Given the description of an element on the screen output the (x, y) to click on. 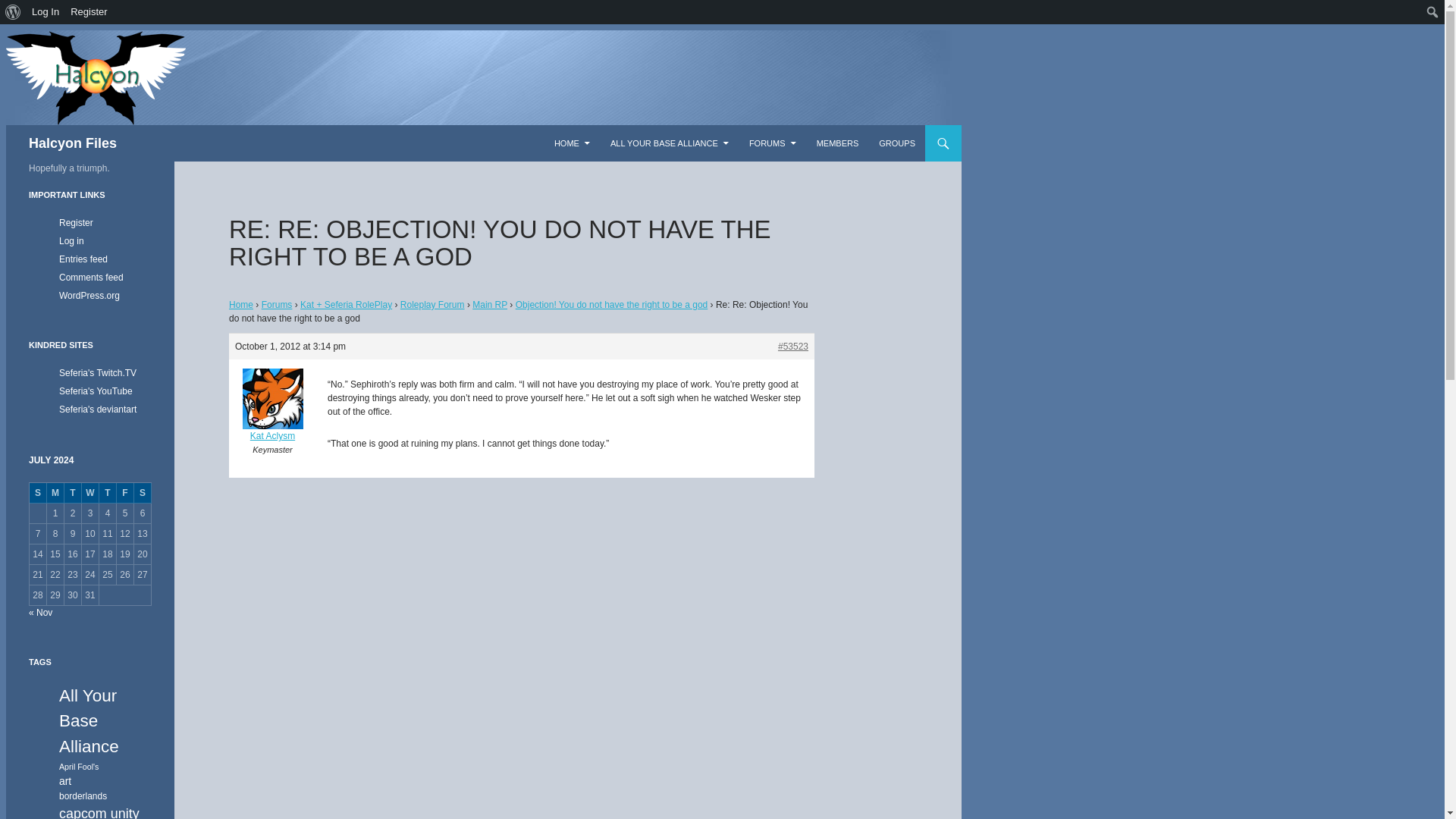
Register (89, 12)
Wednesday (90, 493)
Register (76, 222)
Saturday (142, 493)
Forums (277, 304)
MEMBERS (837, 143)
Halcyon Files (72, 143)
Log in (71, 240)
WordPress.org (89, 295)
ALL YOUR BASE ALLIANCE (669, 143)
Kat Aclysm (271, 415)
Search (11, 12)
HOME (571, 143)
Main RP (488, 304)
